Given the description of an element on the screen output the (x, y) to click on. 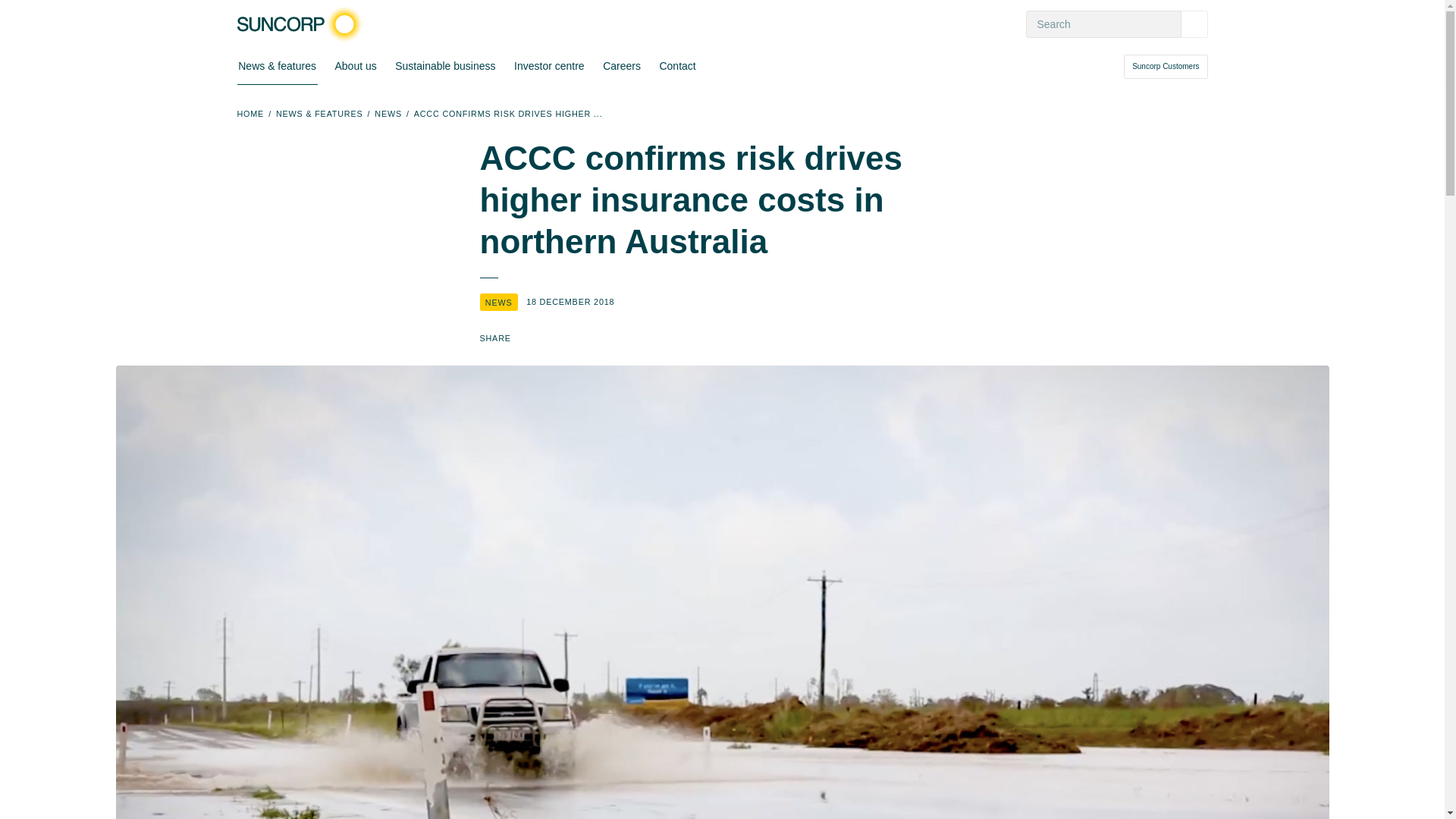
Suncorp Group Logo - Link to homepage (302, 23)
Link to linkedin (586, 338)
Link to twitter (559, 338)
Investor centre (548, 66)
Link to facebook (532, 338)
Link to email (613, 338)
Sustainable business (444, 66)
About us (355, 66)
